Given the description of an element on the screen output the (x, y) to click on. 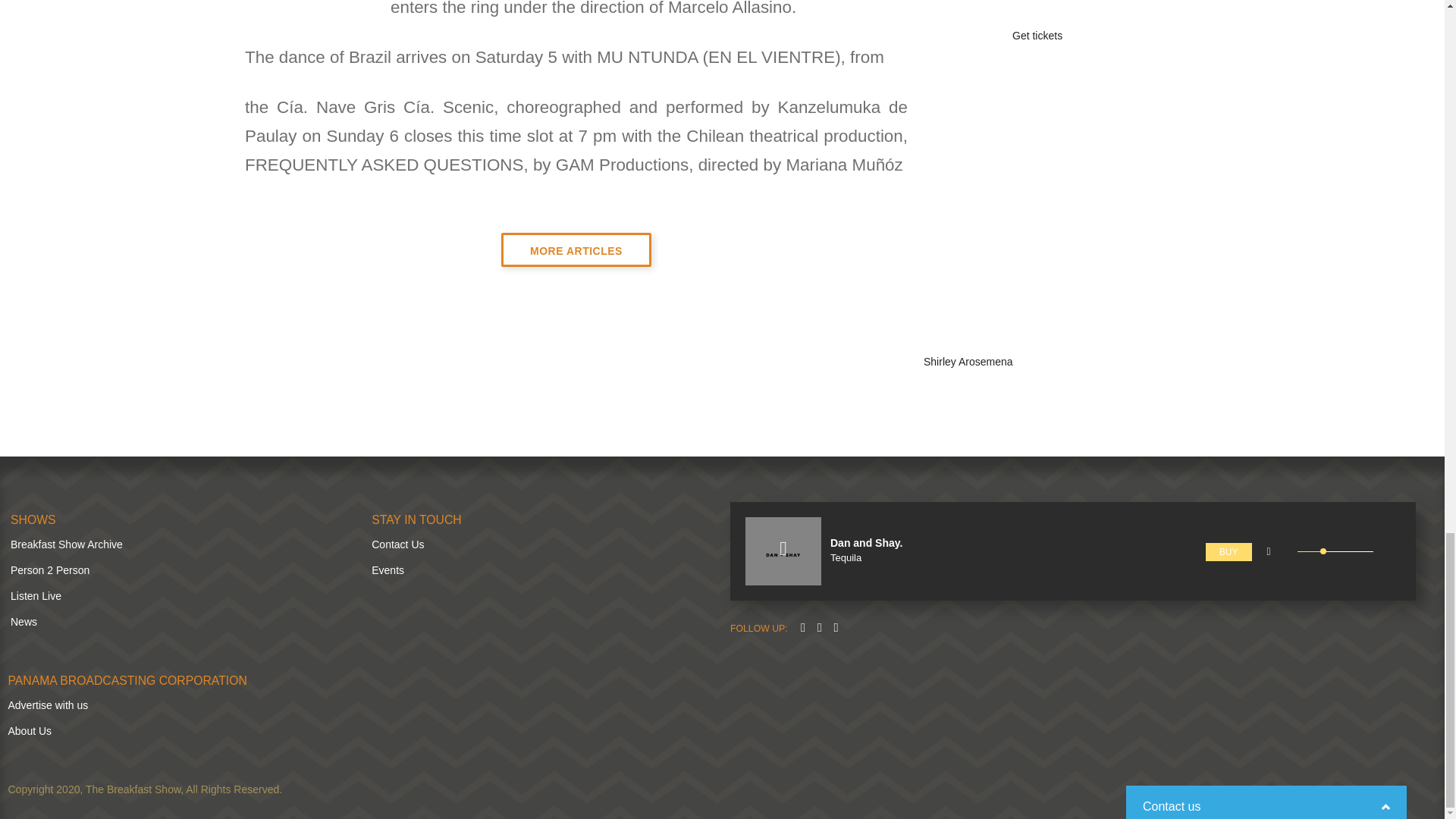
Breakfast Show Archive (66, 544)
Contact Us (397, 544)
About Us (28, 730)
Advertise with us (47, 705)
BUY (1228, 551)
Listen Live (35, 595)
BUY (1228, 551)
Events (387, 570)
News (23, 621)
Person 2 Person (49, 570)
MORE ARTICLES (575, 249)
